Given the description of an element on the screen output the (x, y) to click on. 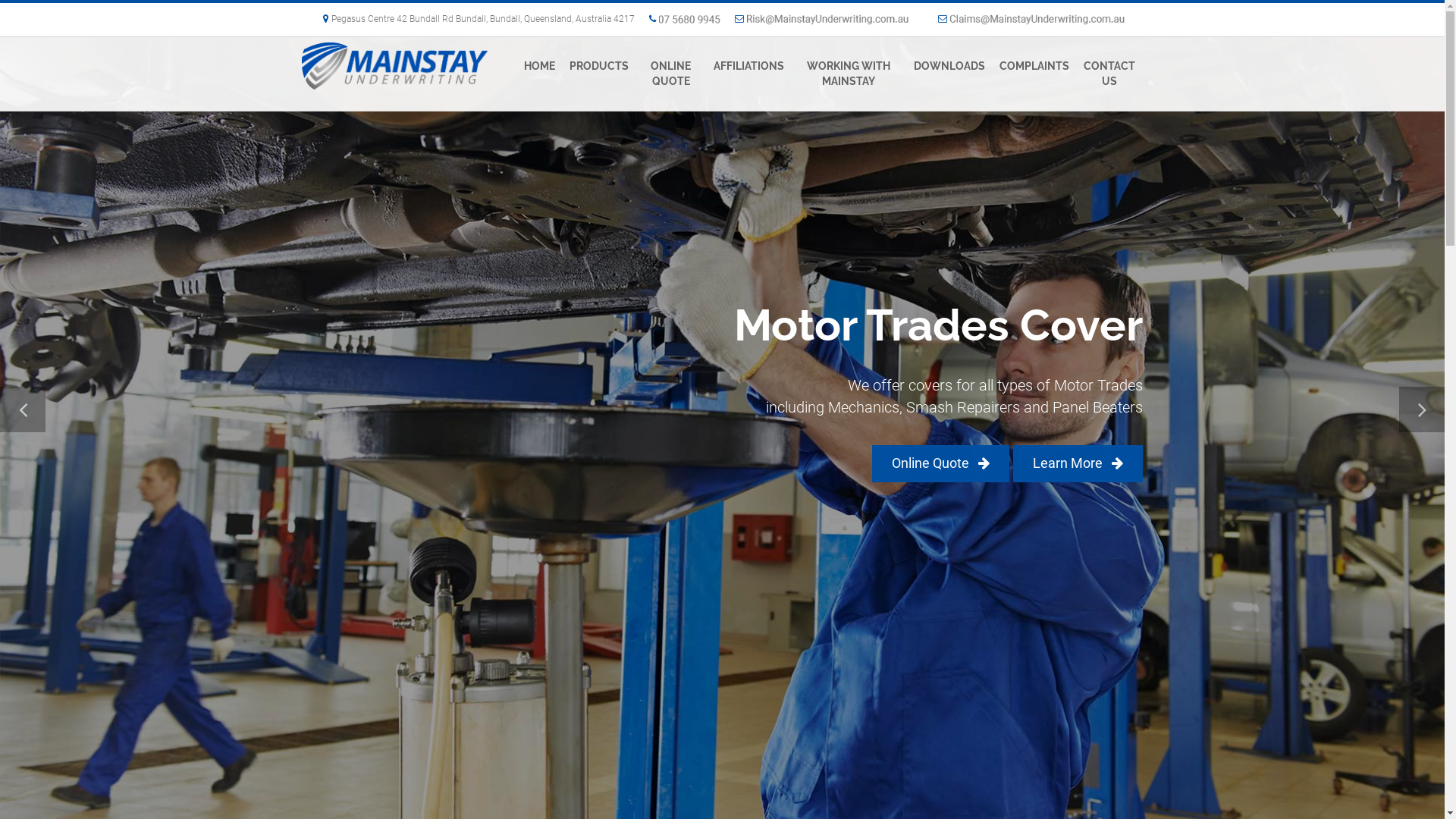
AFFILIATIONS Element type: text (749, 66)
PRODUCTS Element type: text (599, 66)
Phone Element type: hover (681, 18)
CONTACT US Element type: text (1109, 73)
Online Quote Element type: text (940, 463)
Claims Element type: hover (1028, 18)
Learn More Element type: text (1077, 463)
Risk Element type: hover (825, 18)
ONLINE QUOTE Element type: text (672, 73)
WORKING WITH MAINSTAY Element type: text (849, 73)
COMPLAINTS Element type: text (1035, 66)
HOME Element type: text (539, 66)
DOWNLOADS Element type: text (949, 66)
